Given the description of an element on the screen output the (x, y) to click on. 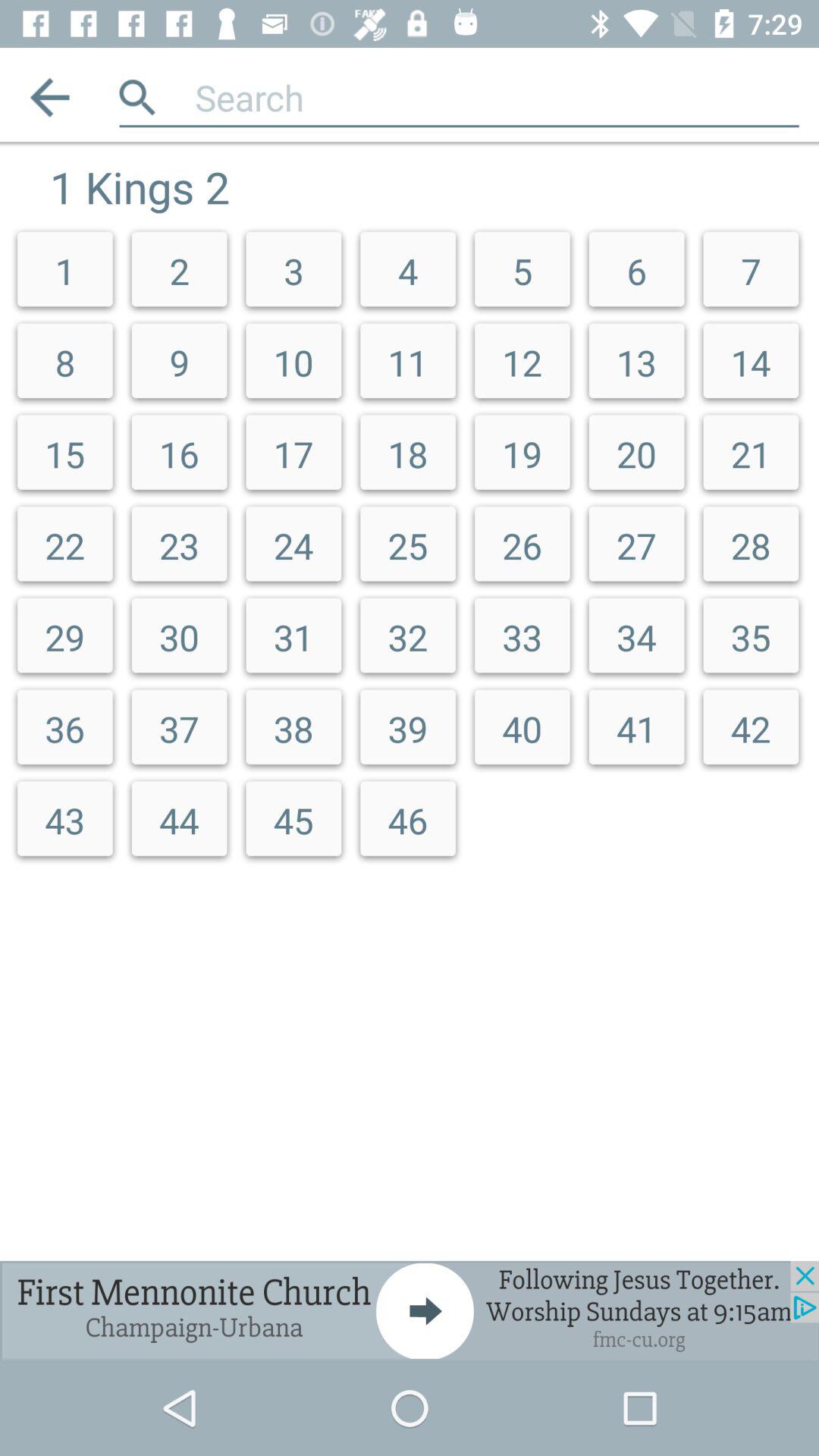
go back (49, 97)
